Given the description of an element on the screen output the (x, y) to click on. 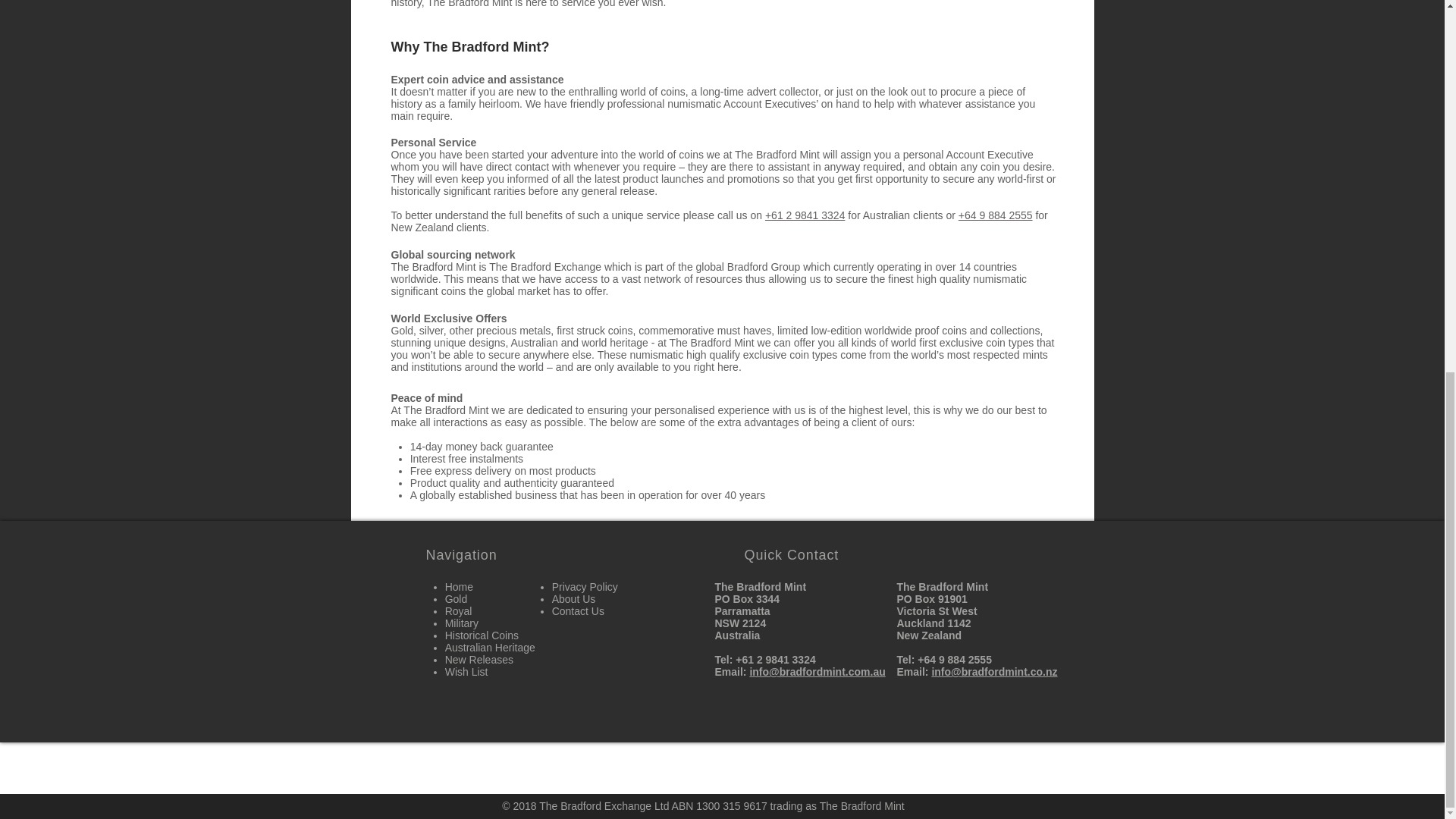
Privacy Policy (584, 586)
Contact Us (577, 611)
Home (459, 586)
Wish List (466, 671)
Gold (456, 598)
Historical Coins (481, 635)
Military (462, 623)
New Releases (479, 659)
Australian Heritage (490, 647)
About Us (573, 598)
